Given the description of an element on the screen output the (x, y) to click on. 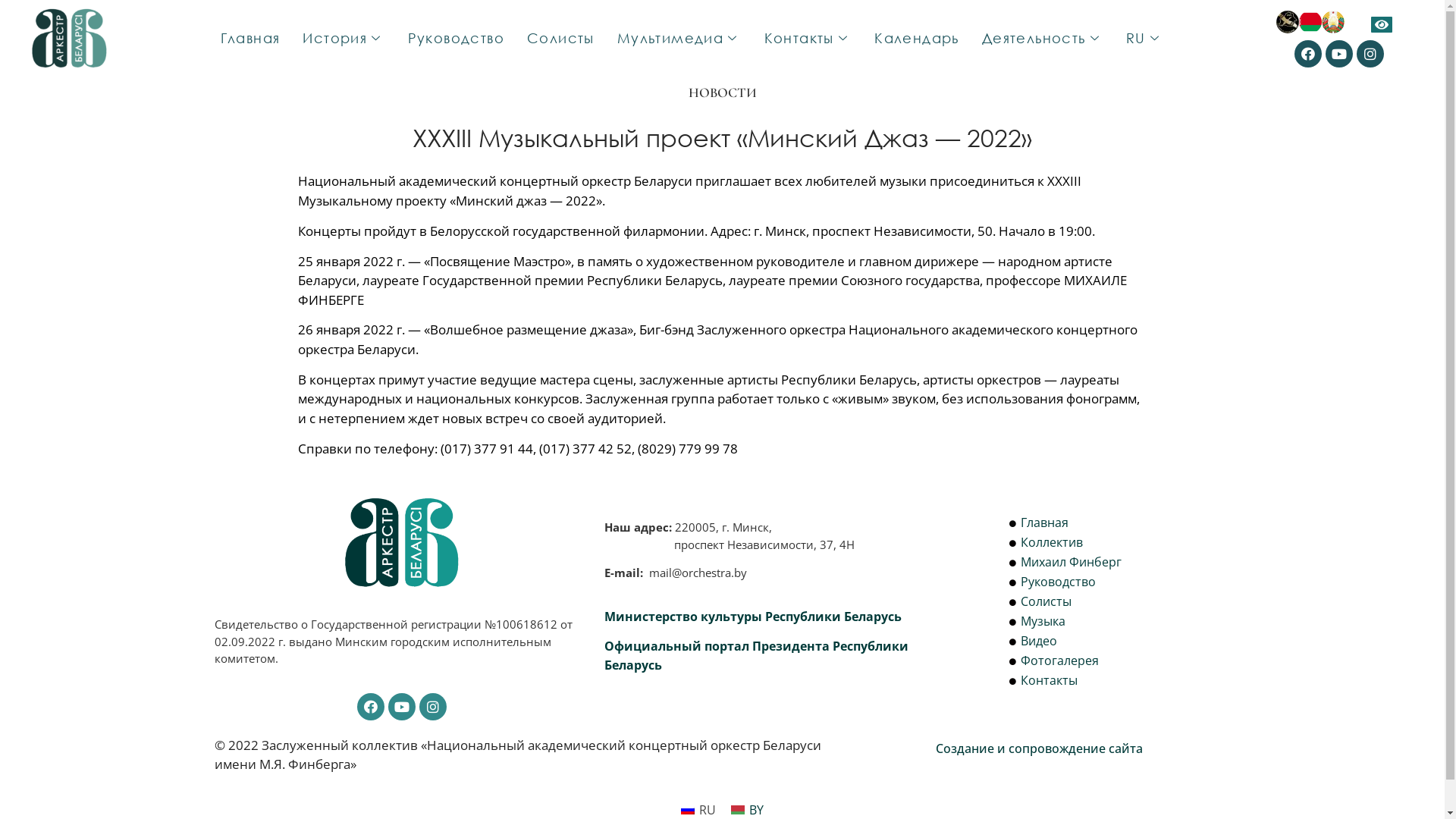
RU Element type: text (1144, 37)
